Given the description of an element on the screen output the (x, y) to click on. 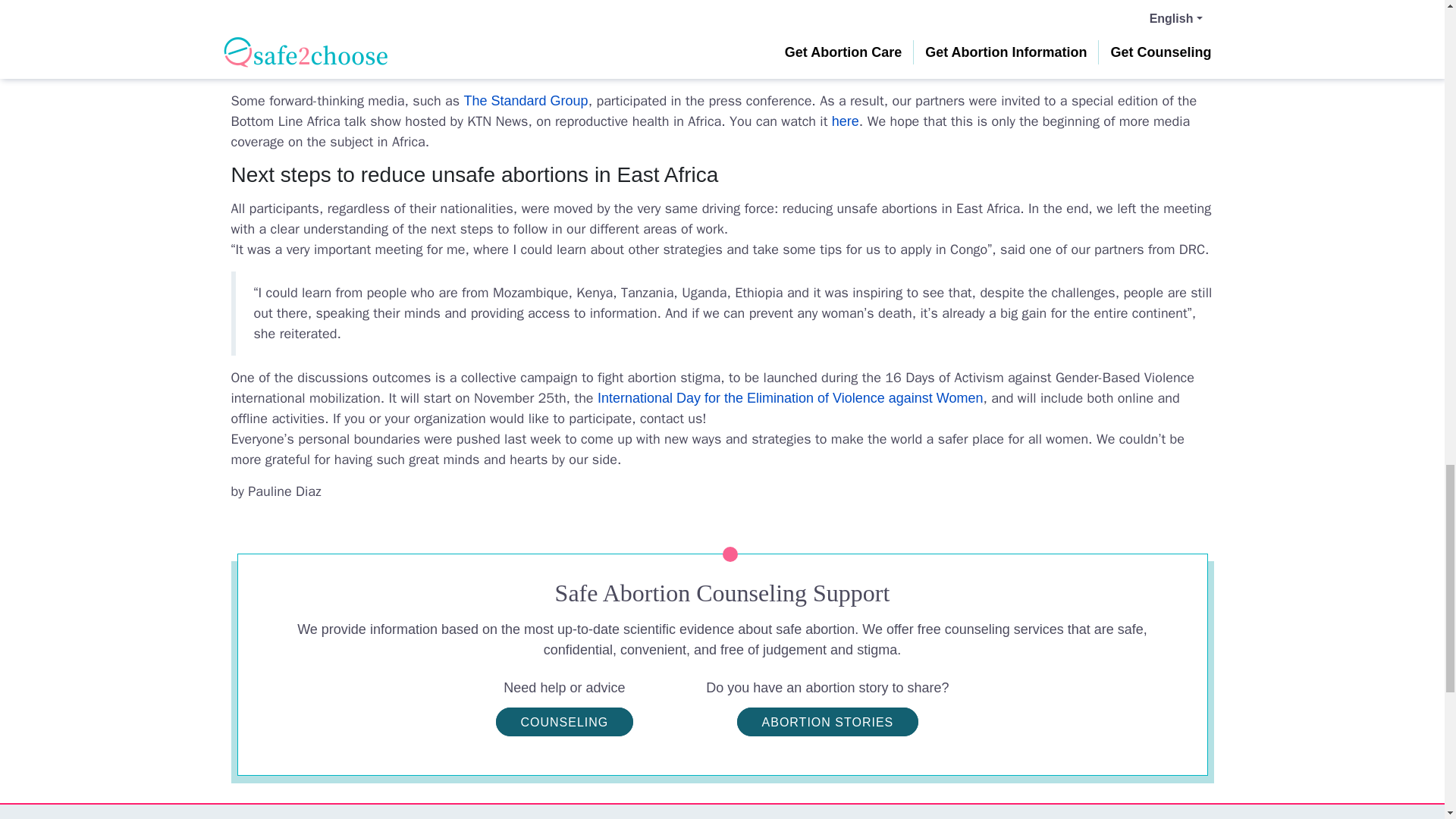
ABORTION STORIES (827, 721)
COUNSELING (564, 721)
The Standard Group (526, 100)
here (845, 120)
